Given the description of an element on the screen output the (x, y) to click on. 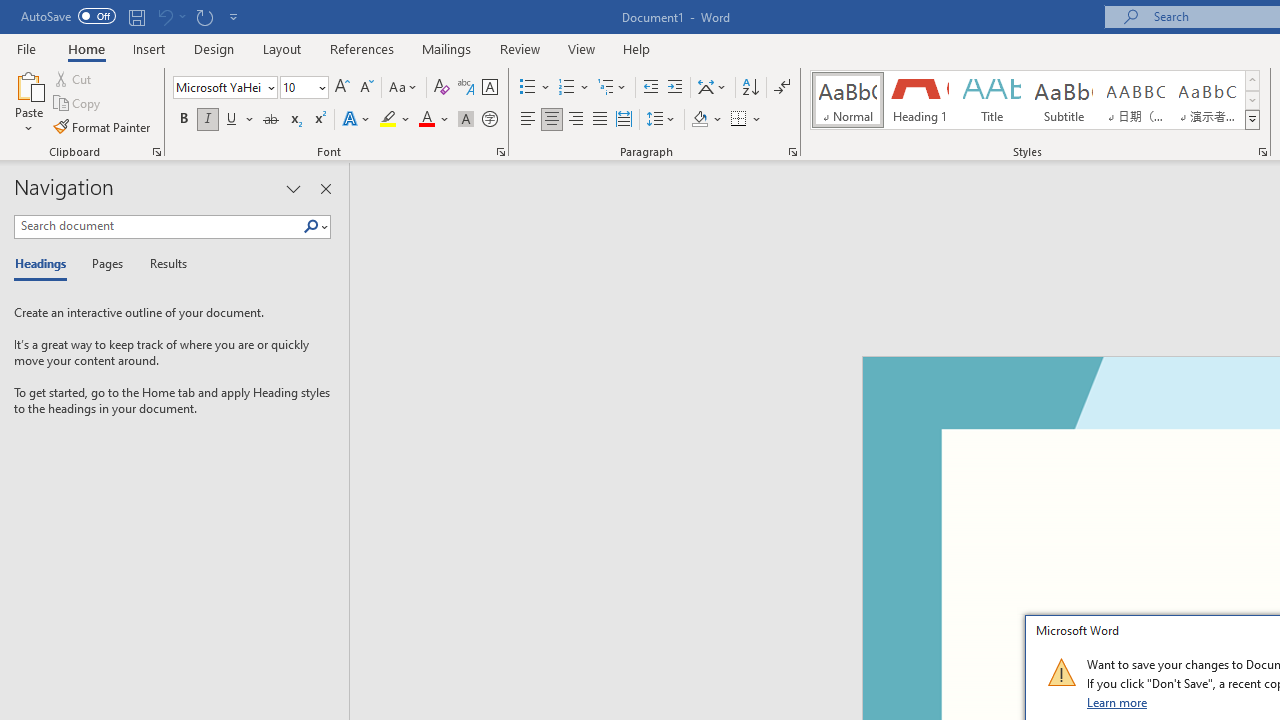
Repeat Italic (204, 15)
AutomationID: QuickStylesGallery (1035, 99)
Heading 1 (920, 100)
Font Color Red (426, 119)
